Given the description of an element on the screen output the (x, y) to click on. 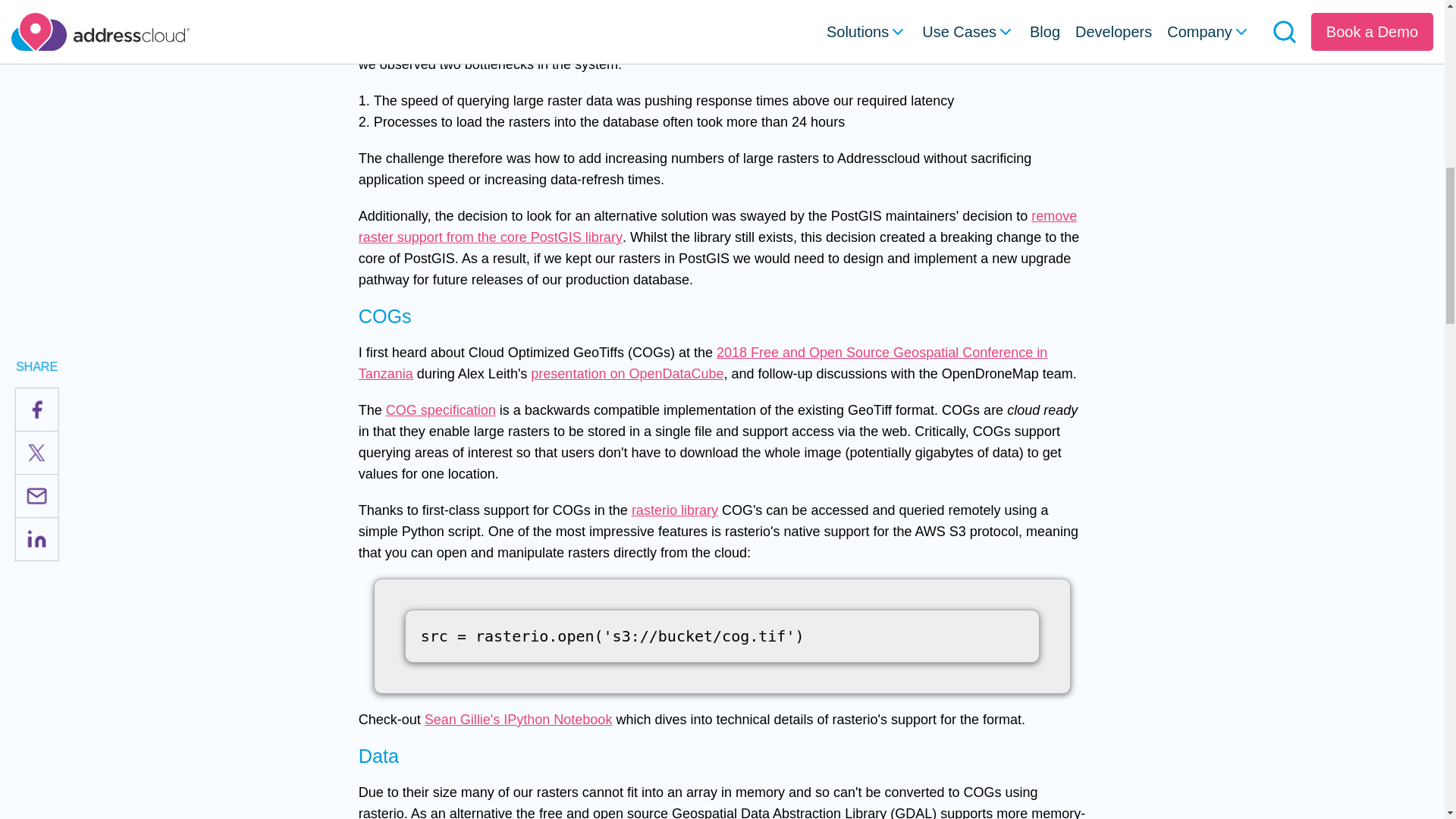
rasterio library (674, 509)
2018 Free and Open Source Geospatial Conference in Tanzania (702, 362)
presentation on OpenDataCube (627, 373)
remove raster support from the core PostGIS library (717, 226)
Sean Gillie's IPython Notebook (518, 719)
COG specification (440, 409)
